Given the description of an element on the screen output the (x, y) to click on. 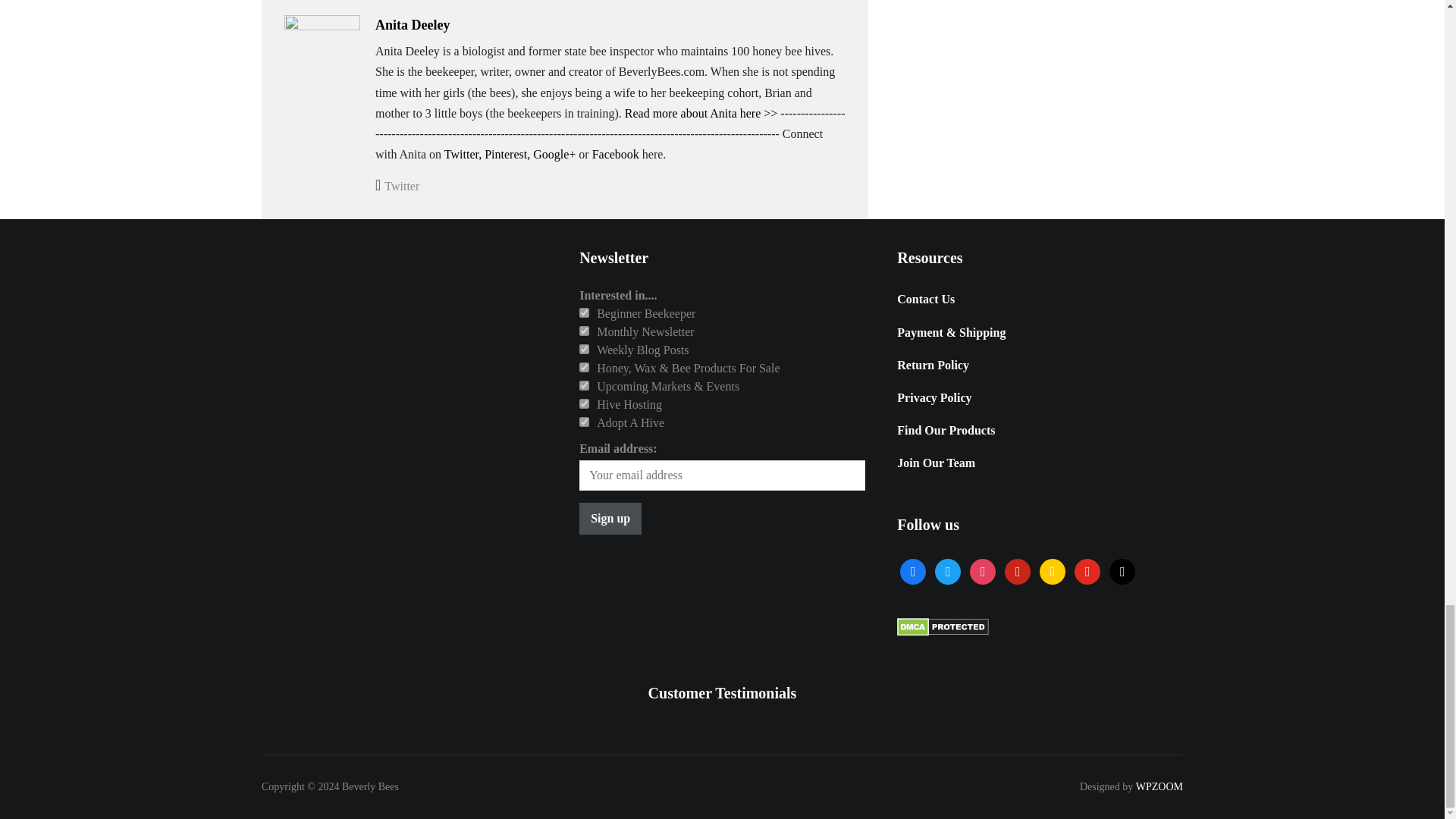
5cf615e64d (584, 421)
e0256f62bb (584, 330)
f6f330bcfb (584, 367)
447db6a15e (584, 385)
503484eb5d (584, 312)
Sign up (610, 518)
6e8c1c837a (584, 348)
36273326e7 (584, 403)
